Given the description of an element on the screen output the (x, y) to click on. 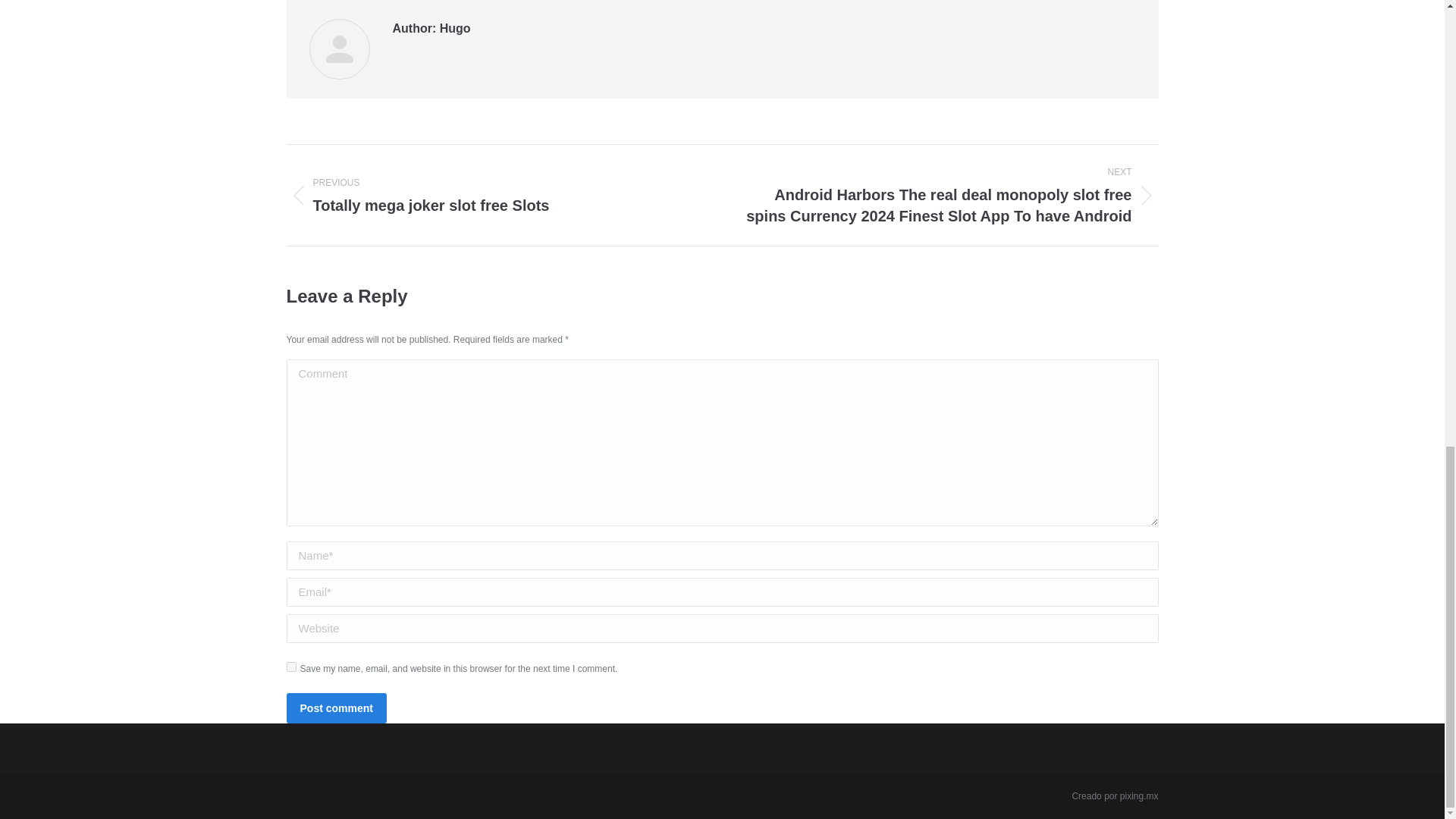
yes (291, 666)
pixing.mx (493, 194)
Post comment (1138, 796)
